Given the description of an element on the screen output the (x, y) to click on. 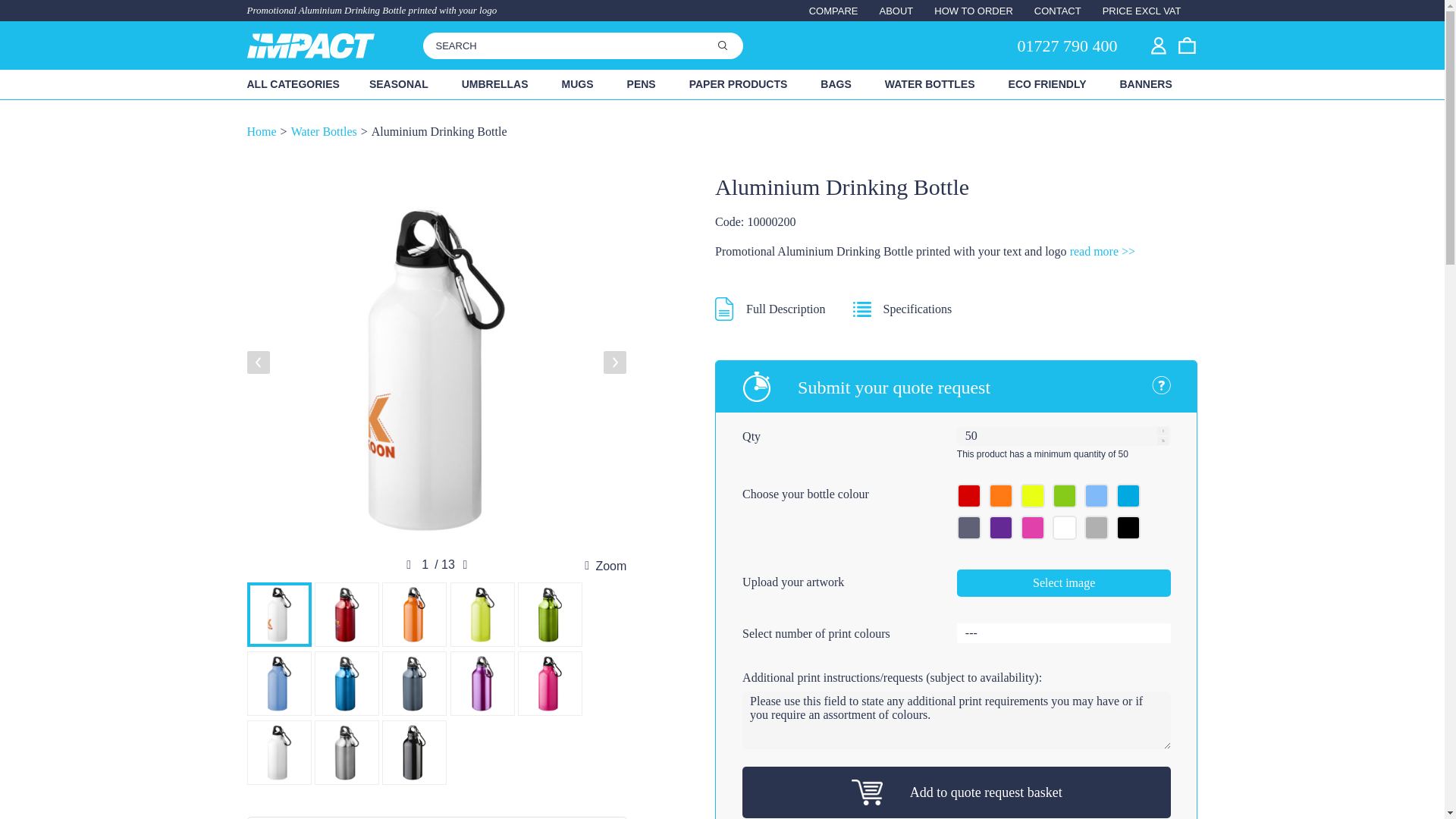
Impact Promotional Merchandise (310, 45)
ABOUT (896, 10)
Banners (1145, 84)
UMBRELLAS (494, 84)
Seasonal (398, 84)
PAPER PRODUCTS (738, 84)
Search (722, 44)
MUGS (577, 84)
SEASONAL (398, 84)
Search (722, 44)
Mugs (577, 84)
Umbrellas (494, 84)
BAGS (835, 84)
WATER BOTTLES (929, 84)
PRICE EXCL VAT (1149, 10)
